Given the description of an element on the screen output the (x, y) to click on. 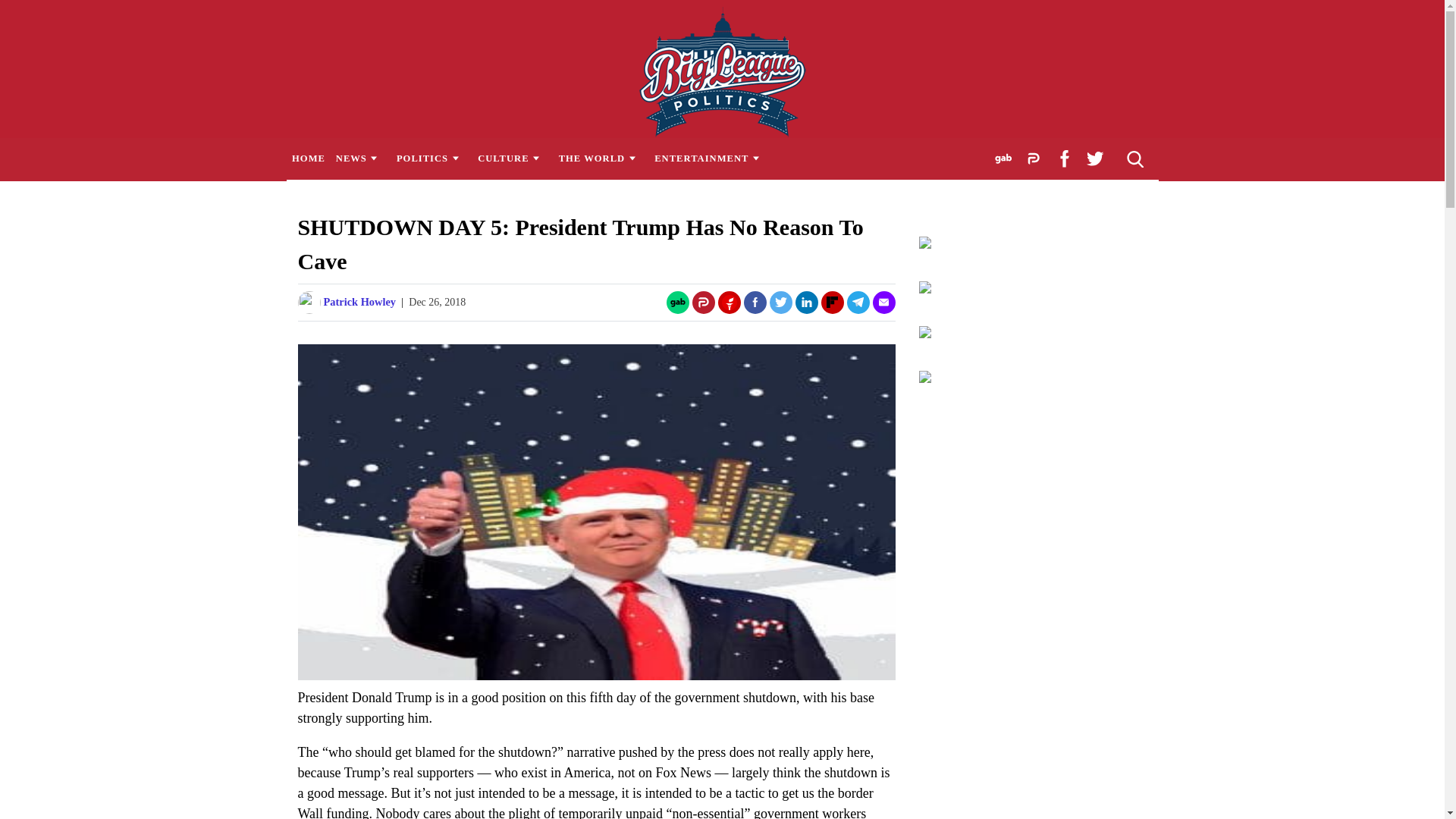
Posts by Patrick Howley (359, 302)
HOME (308, 158)
NEWS (360, 158)
CULTURE (512, 158)
POLITICS (430, 158)
THE WORLD (601, 158)
ENTERTAINMENT (711, 158)
